Given the description of an element on the screen output the (x, y) to click on. 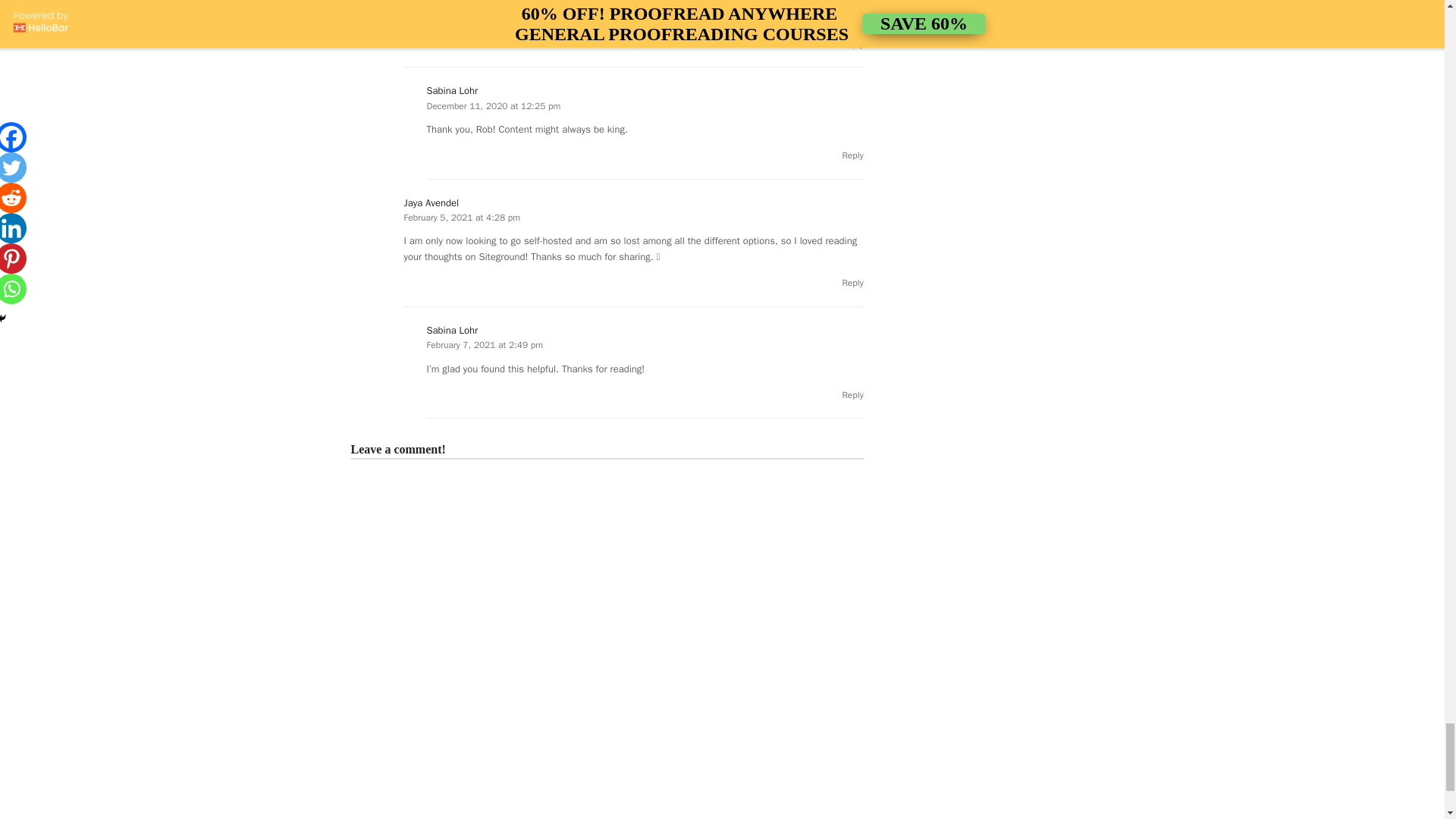
Reply (852, 395)
Reply (852, 282)
Reply (852, 43)
Reply (852, 155)
